Given the description of an element on the screen output the (x, y) to click on. 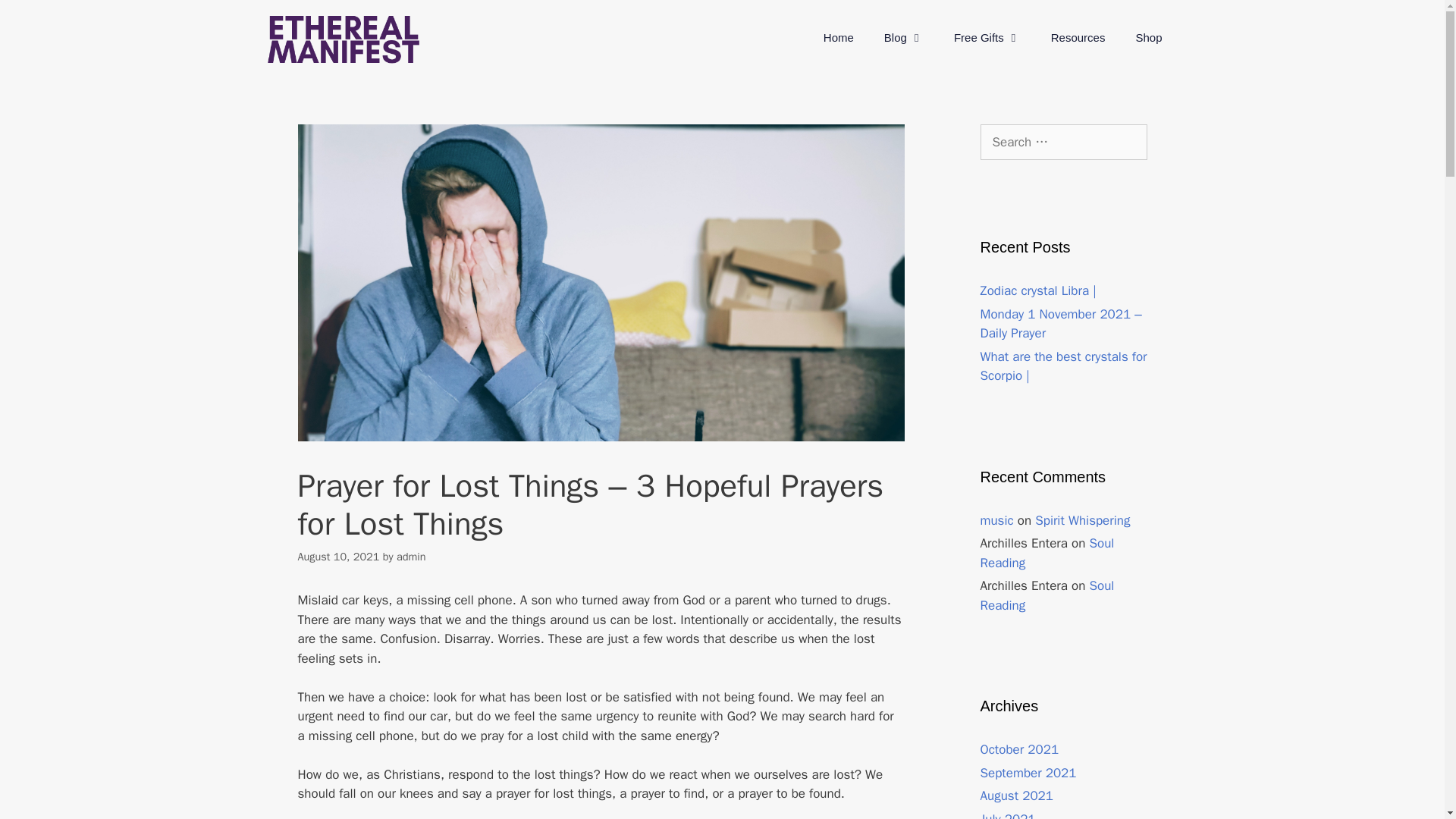
Search for: (1063, 142)
September 2021 (1027, 772)
Ethereal Manifest (342, 39)
admin (411, 555)
October 2021 (1018, 749)
Search (36, 18)
View all posts by admin (411, 555)
Blog (904, 37)
July 2021 (1007, 815)
Free Gifts (987, 37)
